Given the description of an element on the screen output the (x, y) to click on. 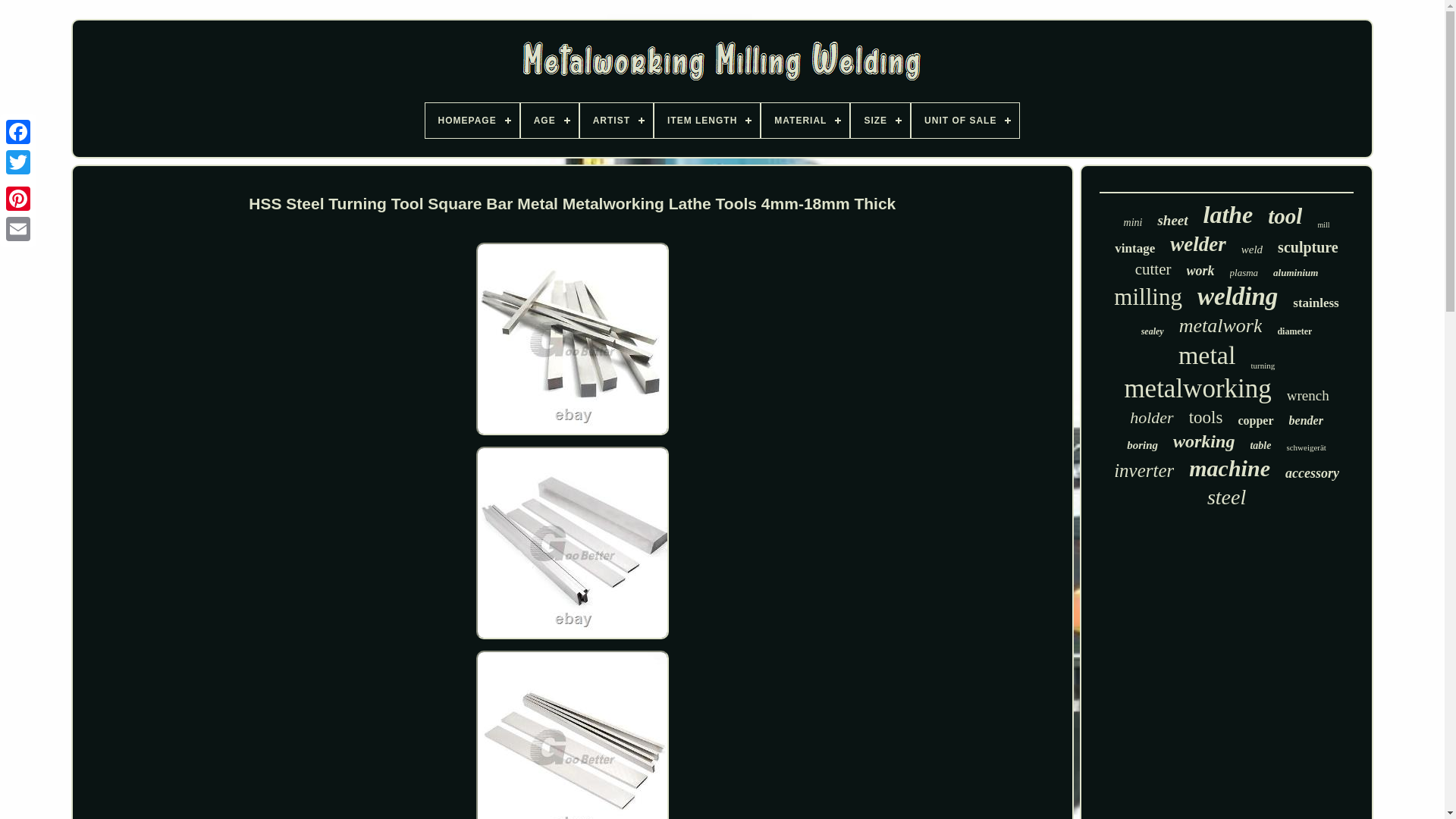
HOMEPAGE (472, 120)
ITEM LENGTH (706, 120)
AGE (549, 120)
ARTIST (615, 120)
